Given the description of an element on the screen output the (x, y) to click on. 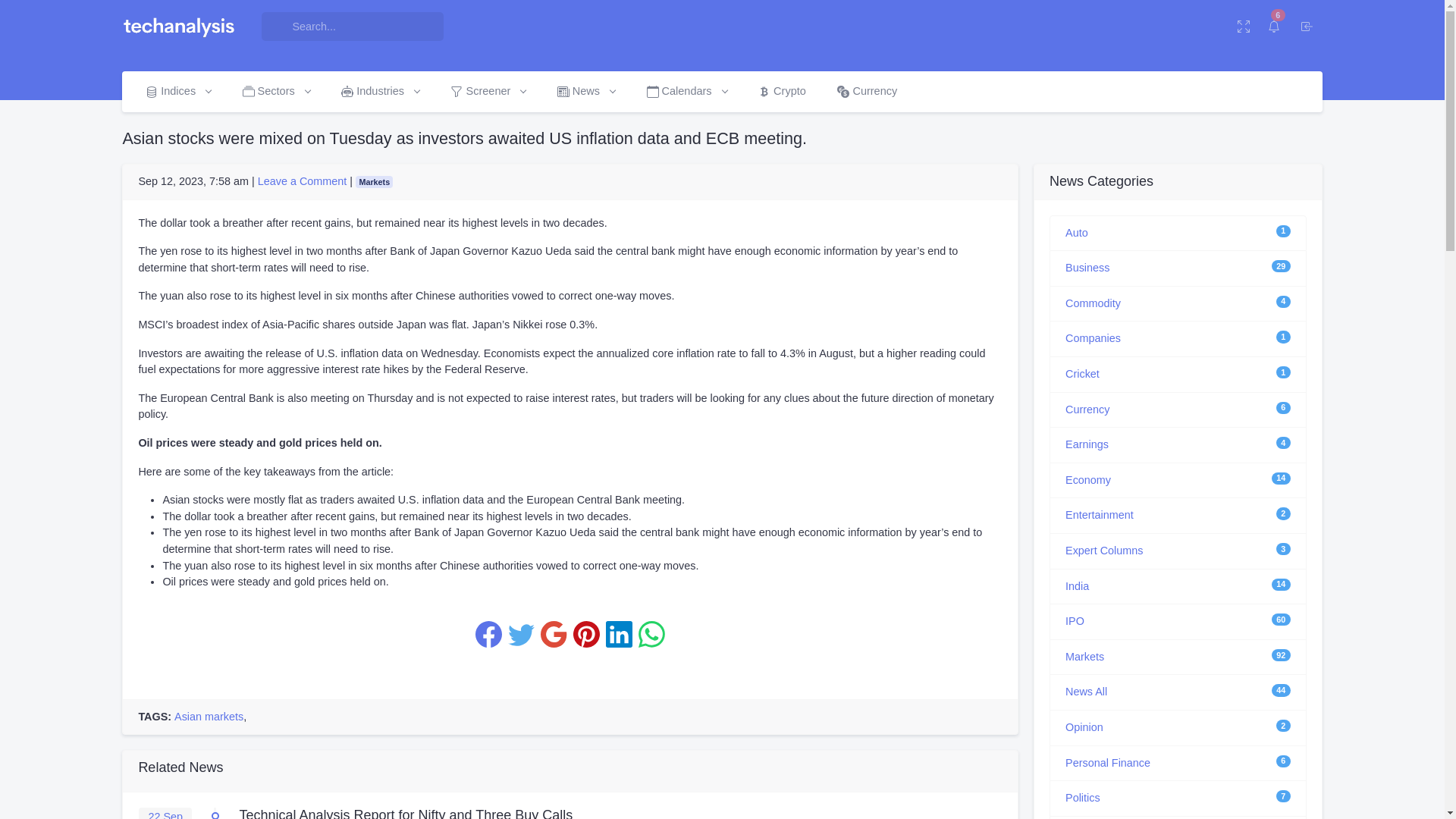
India (1077, 585)
Commodity (1093, 303)
Markets (1084, 656)
Entertainment (1099, 514)
Economy (1087, 480)
Business (1087, 267)
Indices (177, 91)
Expert Columns (1103, 550)
Companies (1093, 337)
Opinion (1084, 727)
